Given the description of an element on the screen output the (x, y) to click on. 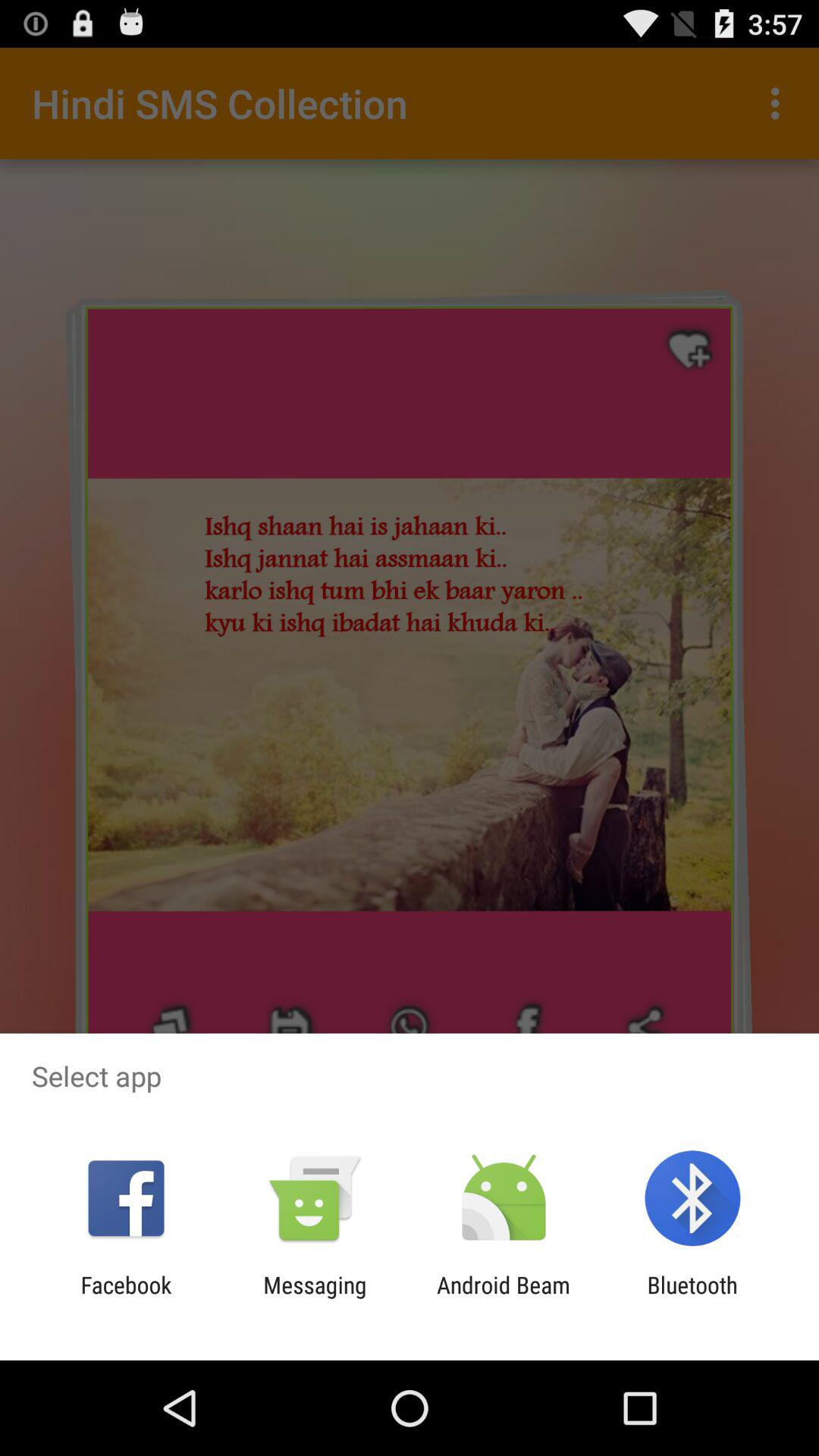
click app to the left of the bluetooth app (503, 1298)
